Given the description of an element on the screen output the (x, y) to click on. 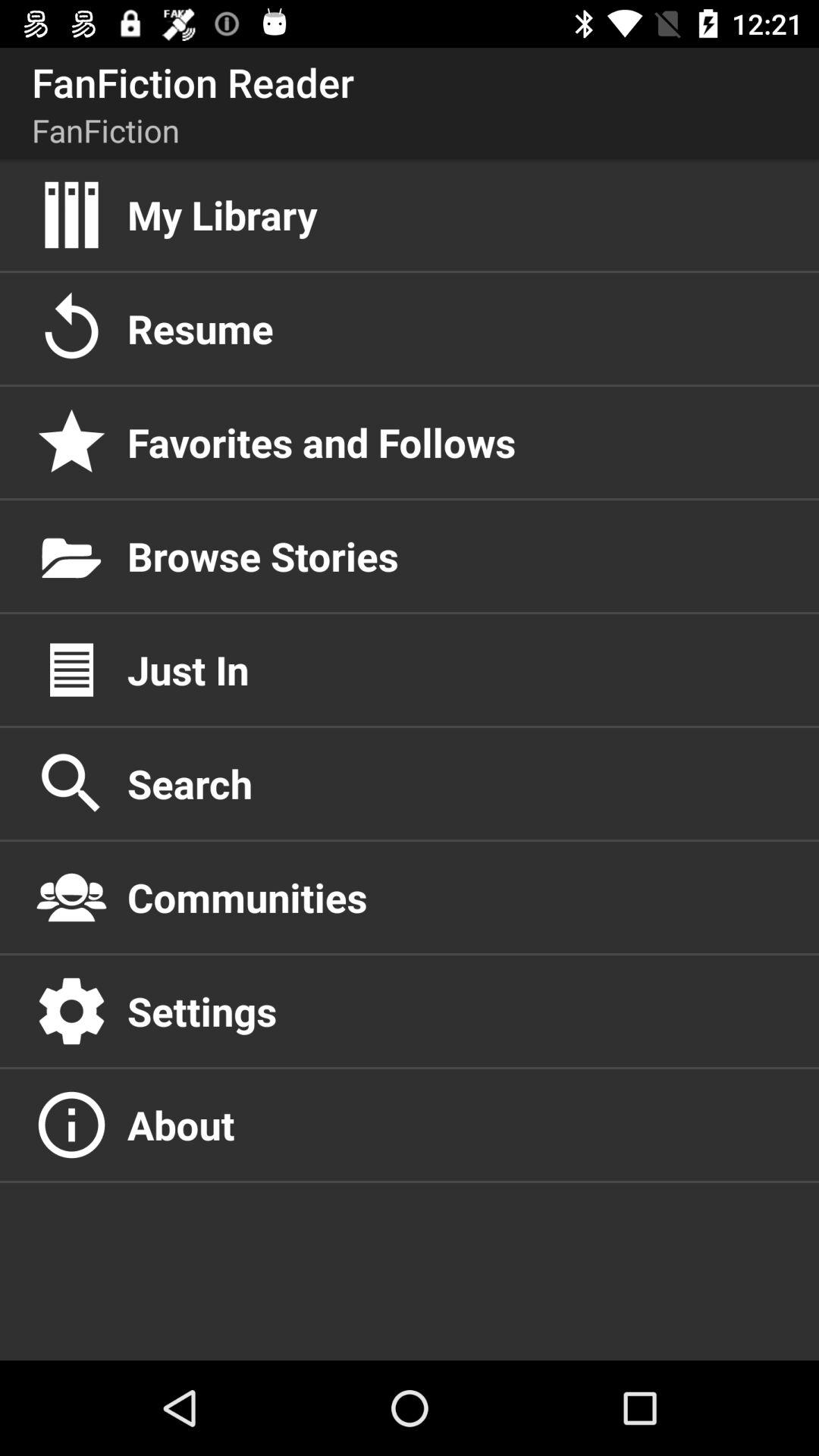
click the settings (457, 1011)
